Given the description of an element on the screen output the (x, y) to click on. 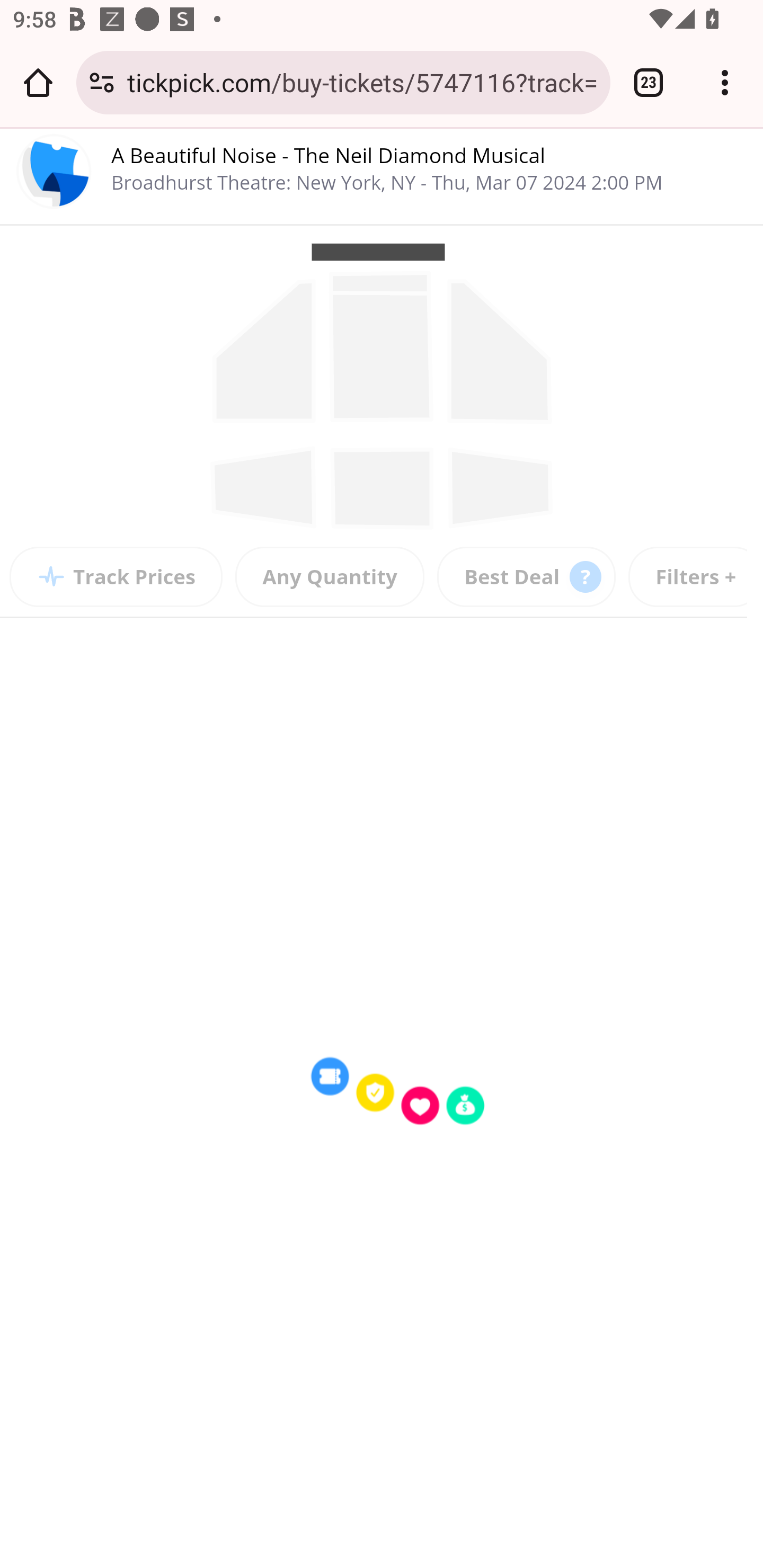
Open the home page (38, 82)
Connection is secure (101, 82)
Switch or close tabs (648, 82)
Customize and control Google Chrome (724, 82)
tickpick.com/buy-tickets/5747116?track=true (362, 82)
TickPick (54, 175)
Broadhurst Theatre: New York, NY  (266, 182)
Track Prices (116, 576)
Filters + (695, 576)
Filter by quantity (330, 576)
Sort By (526, 576)
